Given the description of an element on the screen output the (x, y) to click on. 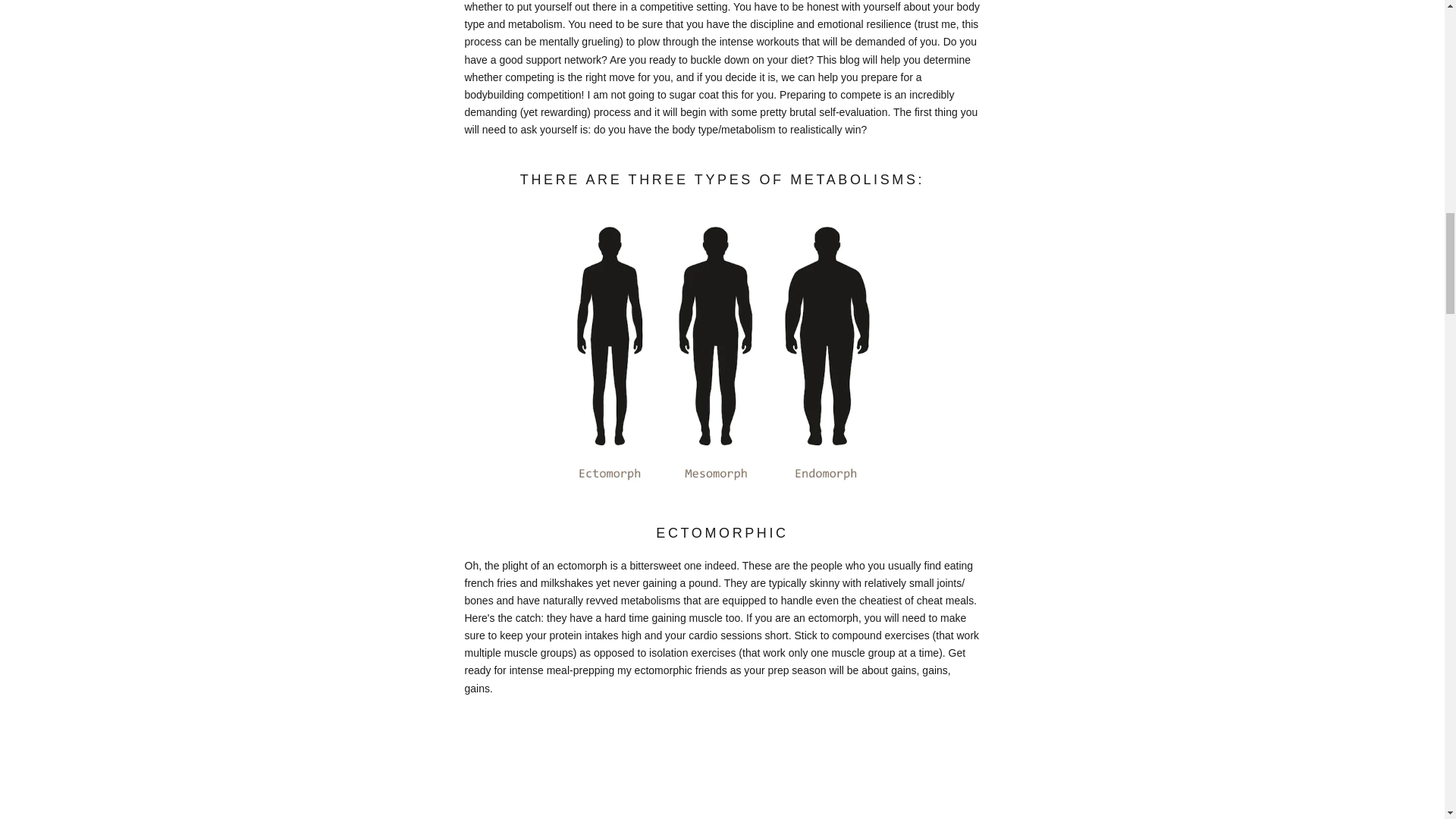
Contest Prep-3 (721, 356)
